Given the description of an element on the screen output the (x, y) to click on. 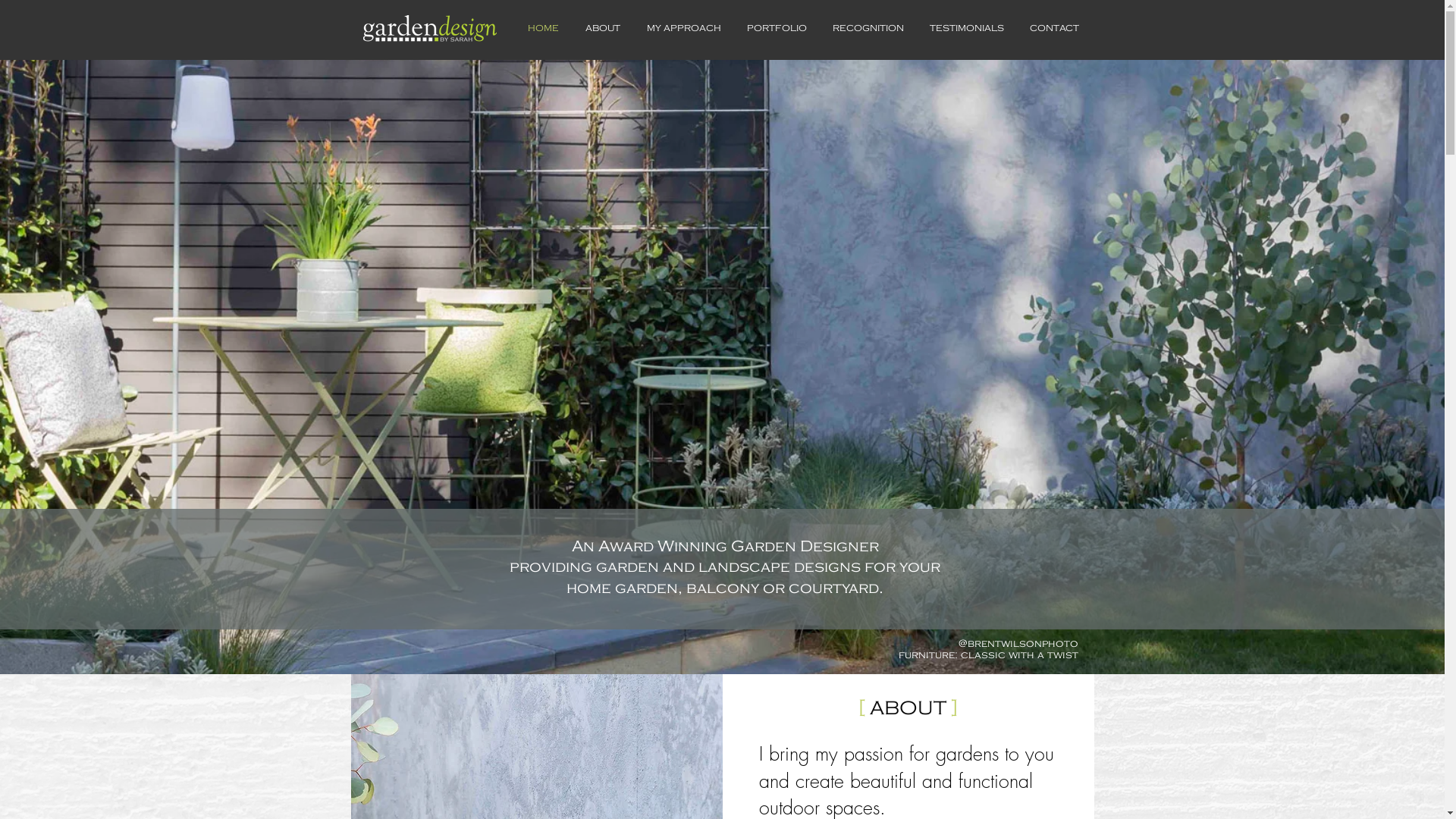
TESTIMONIALS Element type: text (966, 28)
RECOGNITION Element type: text (867, 28)
MY APPROACH Element type: text (683, 28)
HOME Element type: text (542, 28)
PORTFOLIO Element type: text (776, 28)
ABOUT Element type: text (602, 28)
CONTACT Element type: text (1053, 28)
